Given the description of an element on the screen output the (x, y) to click on. 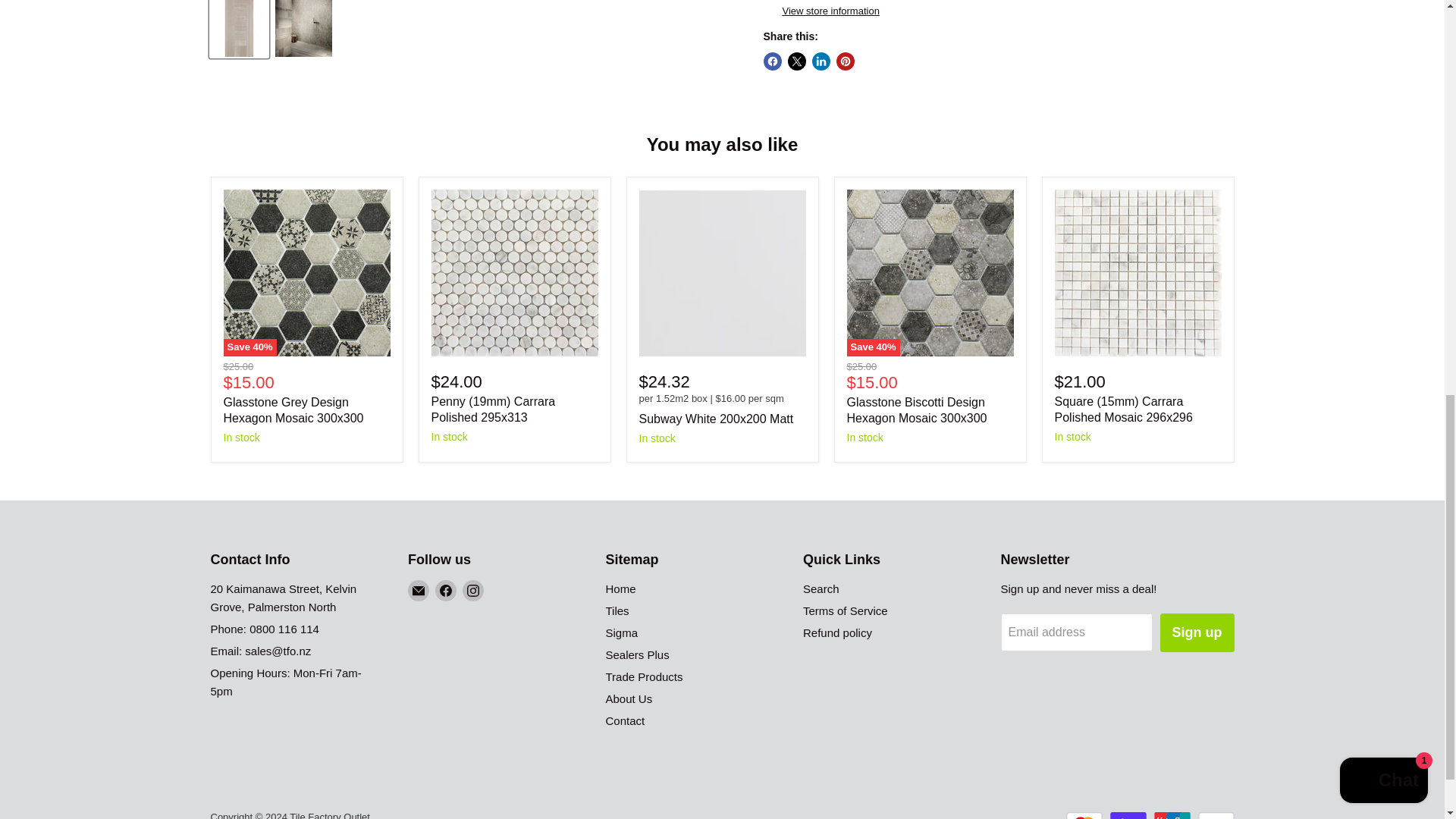
Facebook (446, 590)
Email (418, 590)
Instagram (473, 590)
